Given the description of an element on the screen output the (x, y) to click on. 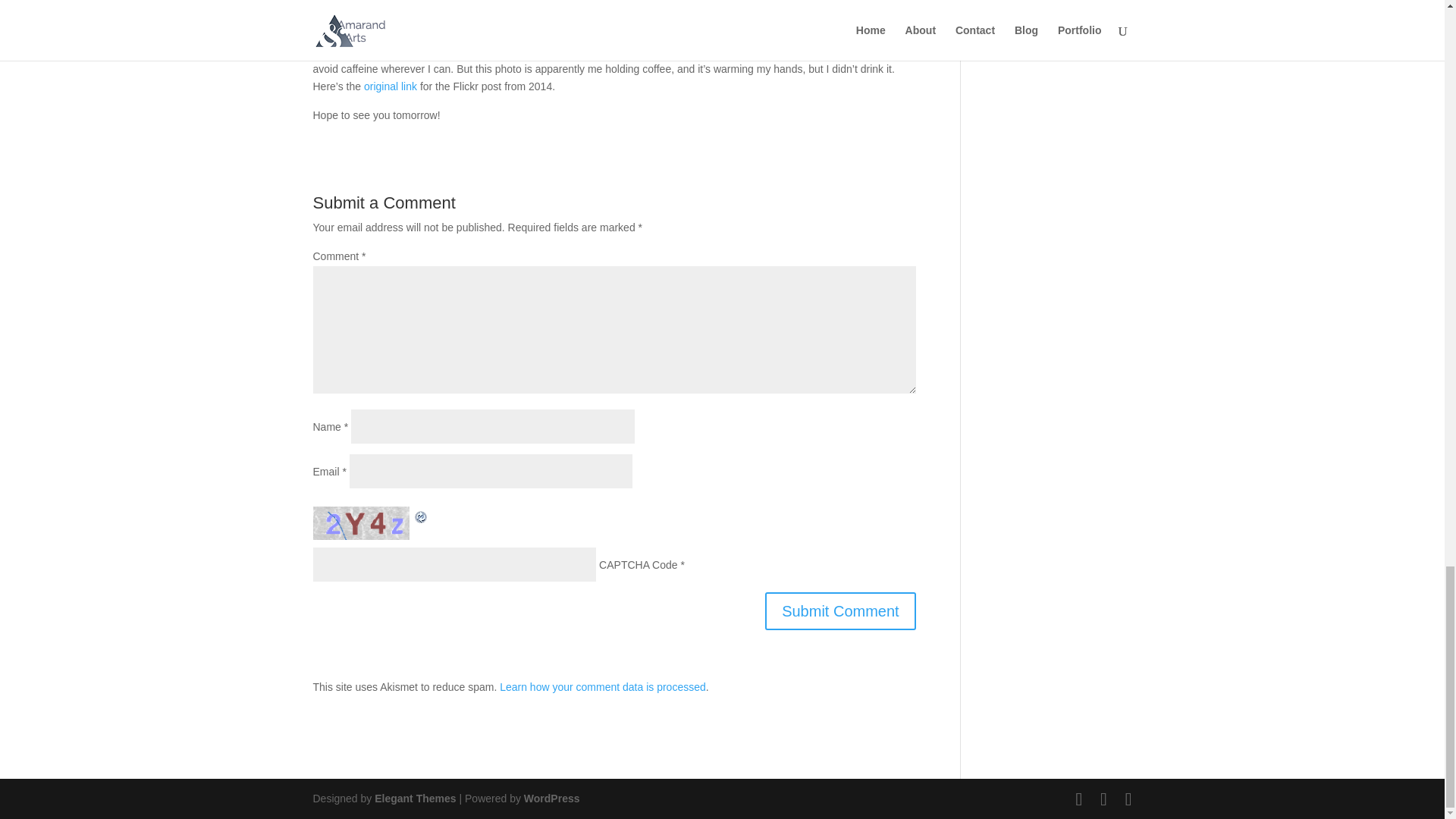
CAPTCHA (362, 522)
Submit Comment (840, 610)
Premium WordPress Themes (414, 797)
Learn how your comment data is processed (602, 686)
Submit Comment (840, 610)
Refresh (420, 514)
original link (390, 86)
